Given the description of an element on the screen output the (x, y) to click on. 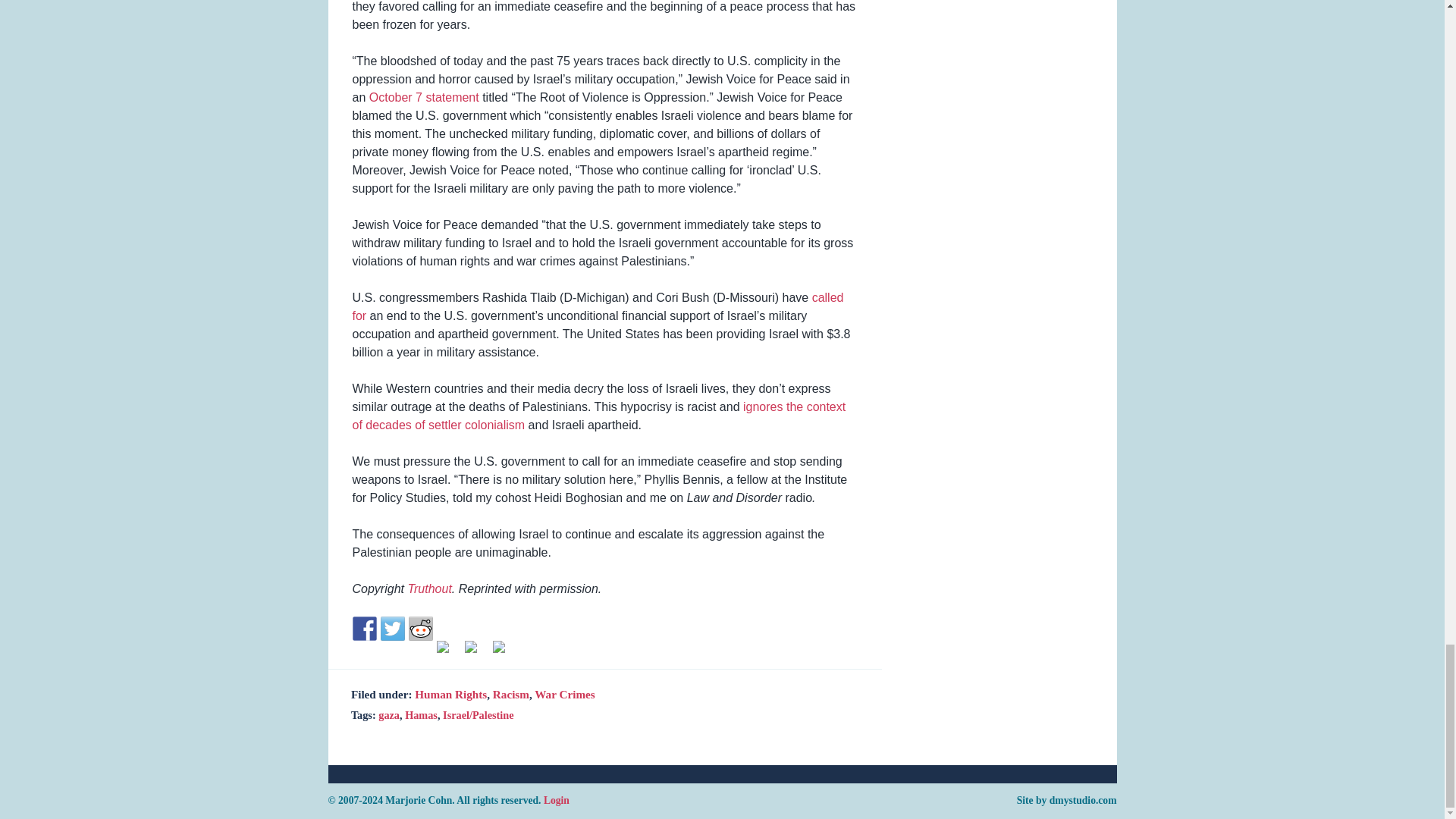
Share on Linkedin (470, 646)
Share by email (499, 646)
Share on Facebook (363, 628)
Share on Reddit (419, 628)
Share by email (504, 652)
Share on Twitter (392, 628)
Pin it with Pinterest (442, 646)
Pin it with Pinterest (448, 652)
Share on Linkedin (475, 652)
